Given the description of an element on the screen output the (x, y) to click on. 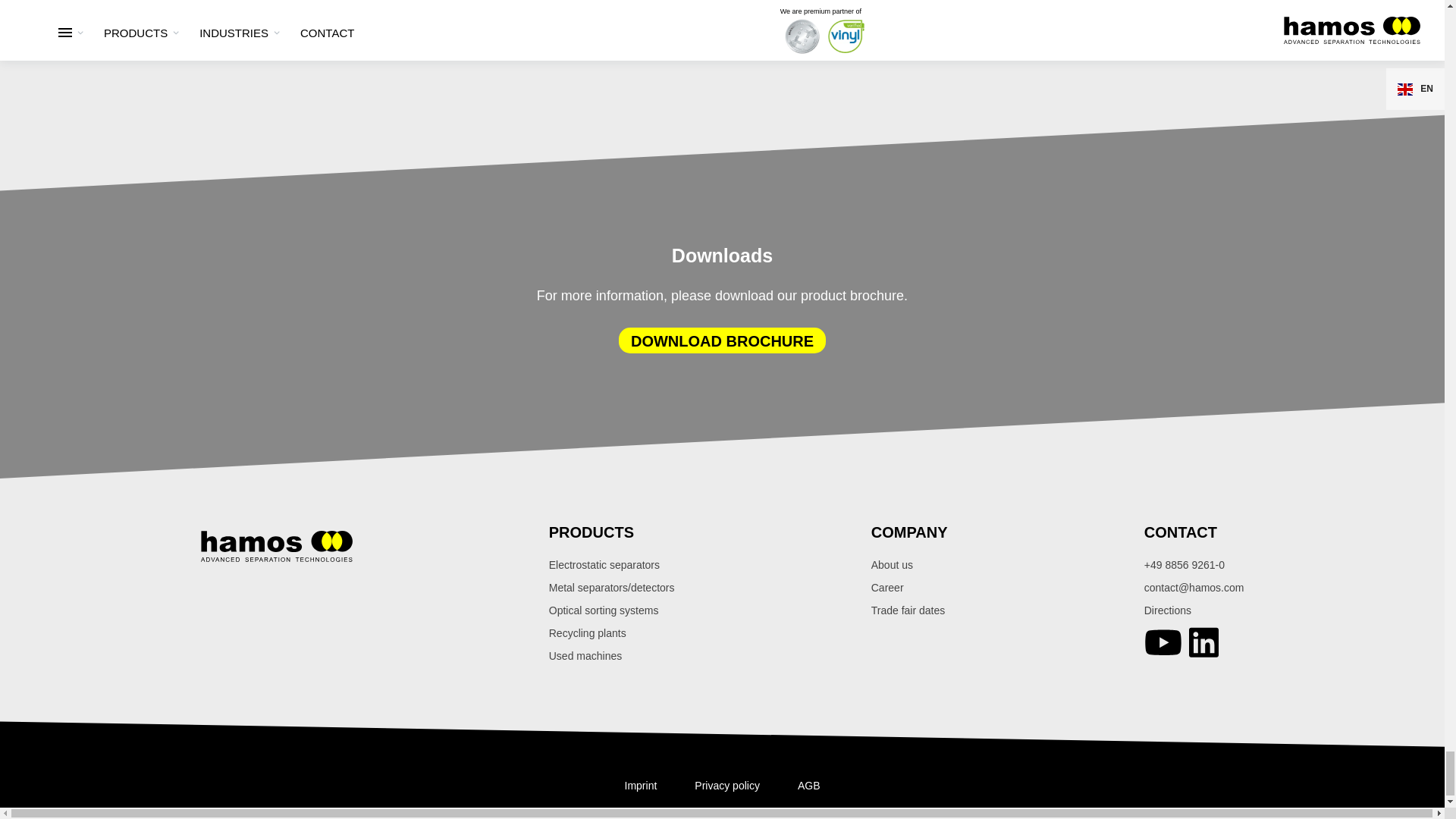
Privacy policy (726, 785)
Electrostatic separators (611, 564)
Career (908, 587)
Used machines (611, 655)
DOWNLOAD BROCHURE (721, 339)
Imprint (641, 785)
About us (908, 564)
Recycling plants (611, 632)
Directions (1194, 610)
AGB (809, 785)
Optical sorting systems (611, 610)
Trade fair dates (908, 610)
